Given the description of an element on the screen output the (x, y) to click on. 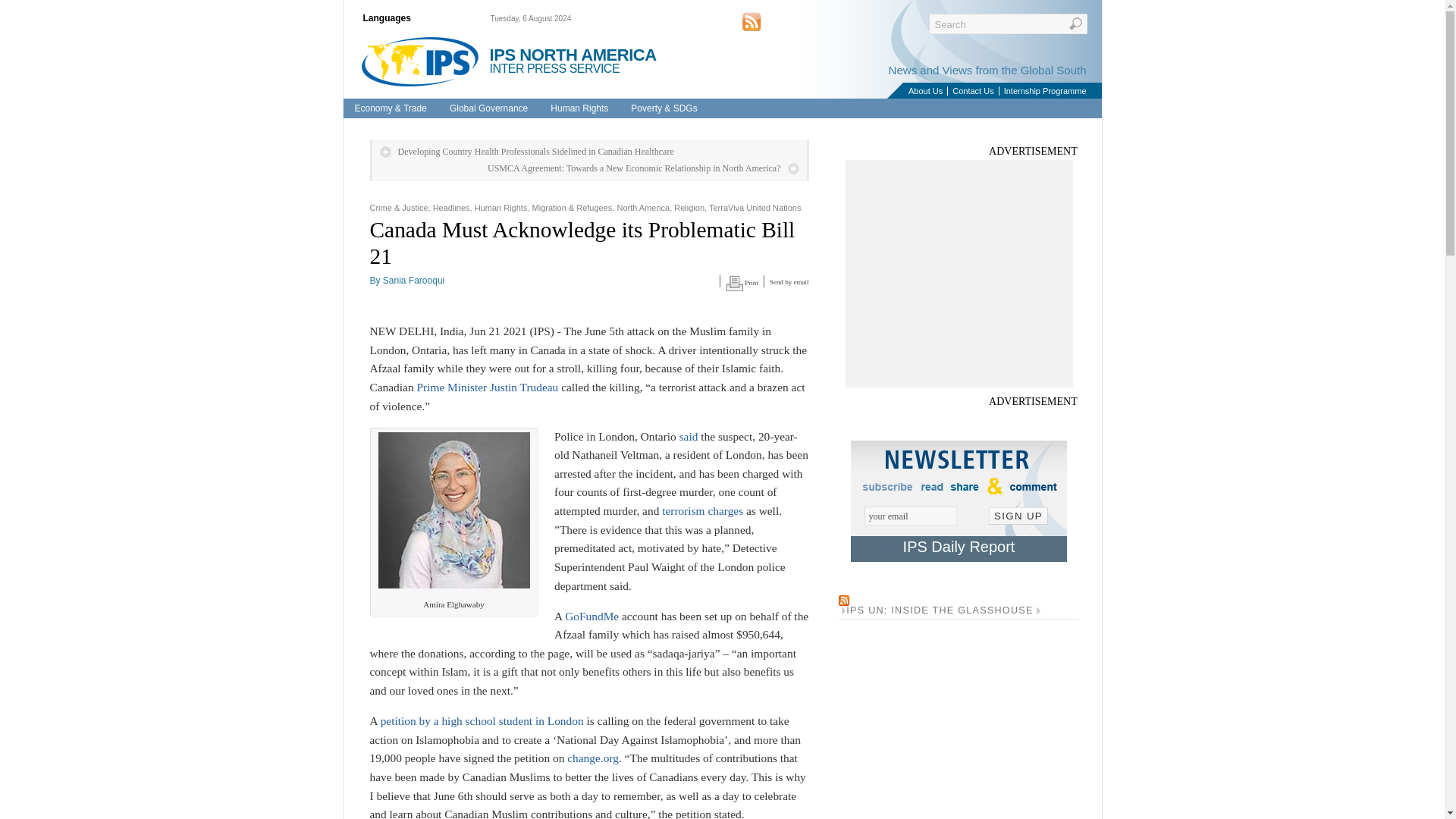
Prime Minister Justin Trudeau (486, 386)
GoFundMe (591, 615)
Search (1007, 23)
your email (910, 515)
Contact Us (972, 90)
Sania Farooqui (413, 280)
Posts by Sania Farooqui (413, 280)
Sign Up (1018, 515)
Religion (689, 207)
